Given the description of an element on the screen output the (x, y) to click on. 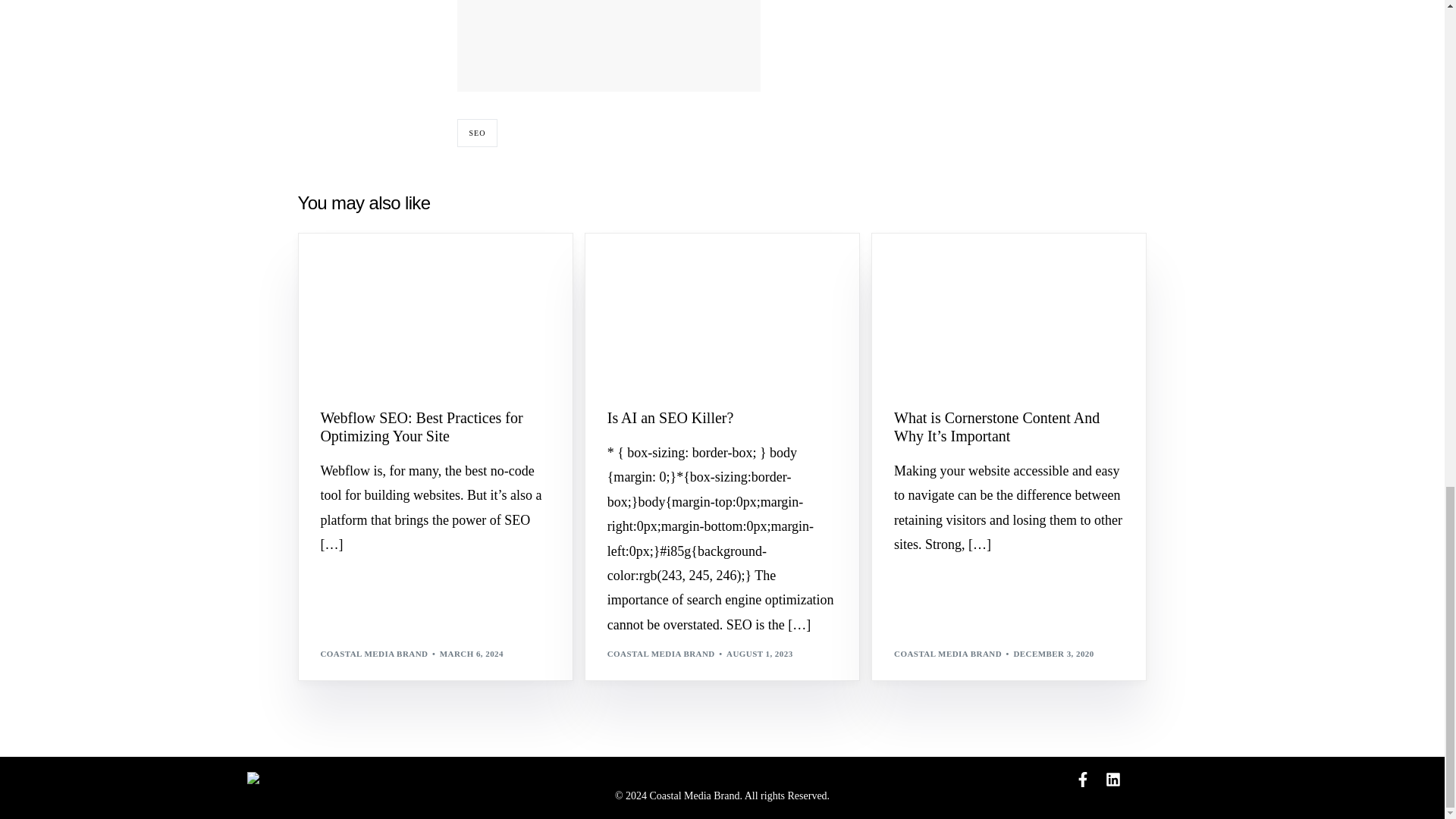
Posts by Coastal Media Brand (660, 653)
 View Post: Is AI an SEO Killer? (722, 311)
View Post: Is AI an SEO Killer?  (722, 417)
SEO (477, 132)
Posts by Coastal Media Brand (374, 653)
Webflow SEO: Best Practices for Optimizing Your Site (435, 426)
COASTAL MEDIA BRAND (374, 653)
